Given the description of an element on the screen output the (x, y) to click on. 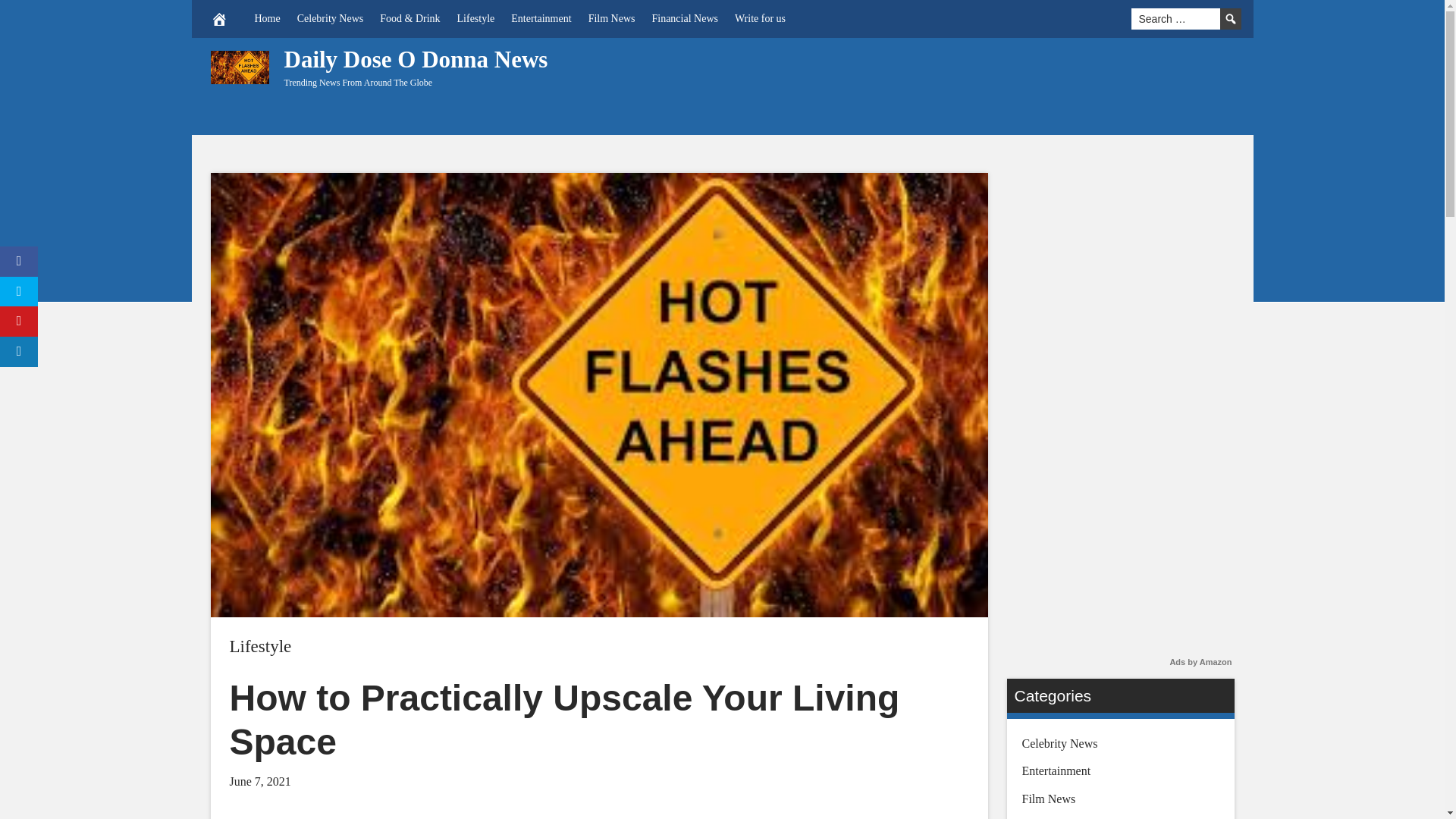
Lifestyle (259, 646)
Film News (611, 18)
Home (267, 18)
Financial News (684, 18)
Entertainment (540, 18)
Lifestyle (259, 646)
Write for us (759, 18)
Celebrity News (329, 18)
Lifestyle (475, 18)
Daily Dose O Donna News (415, 58)
